Given the description of an element on the screen output the (x, y) to click on. 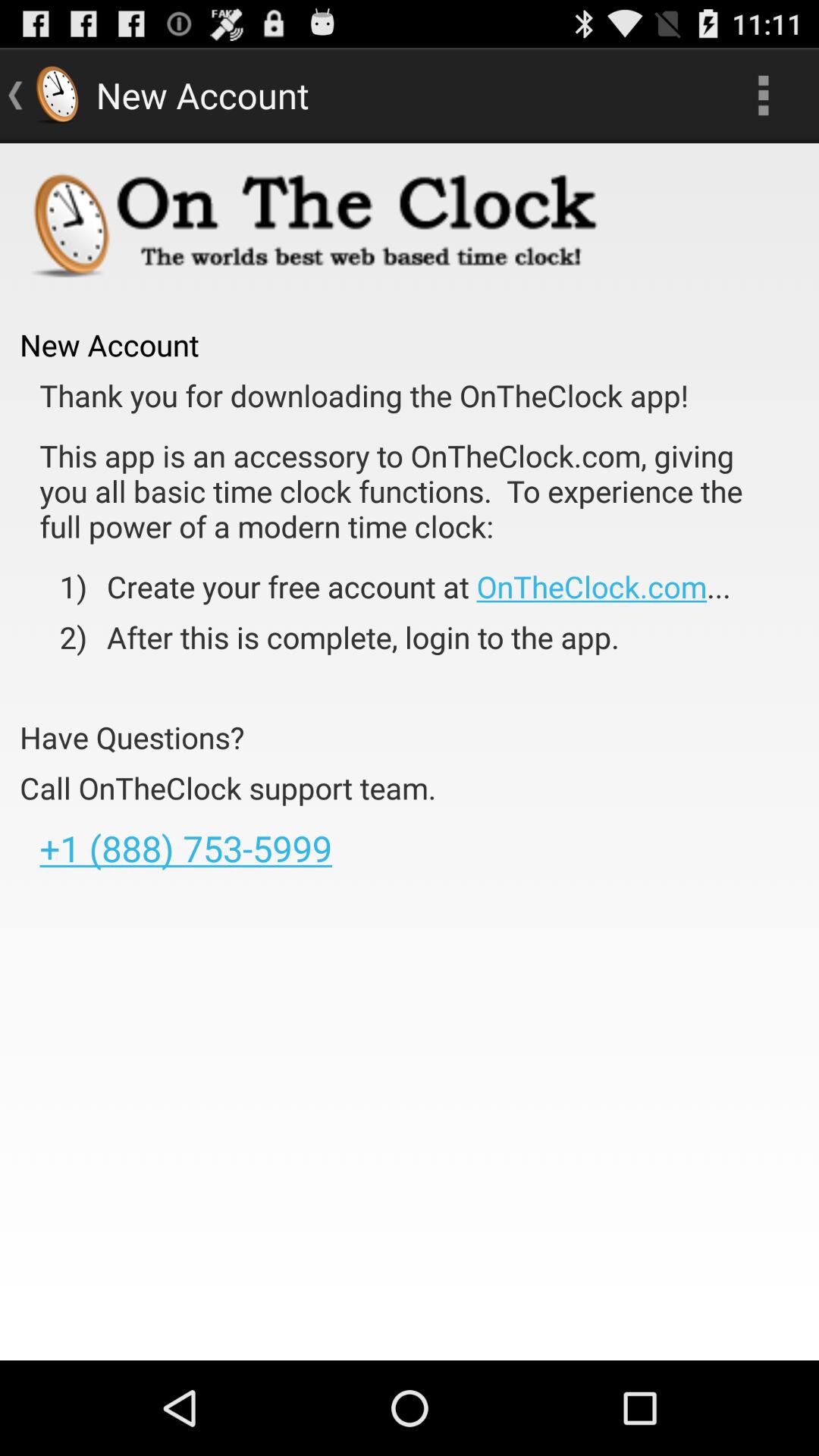
turn off 1 888 753 (185, 848)
